Given the description of an element on the screen output the (x, y) to click on. 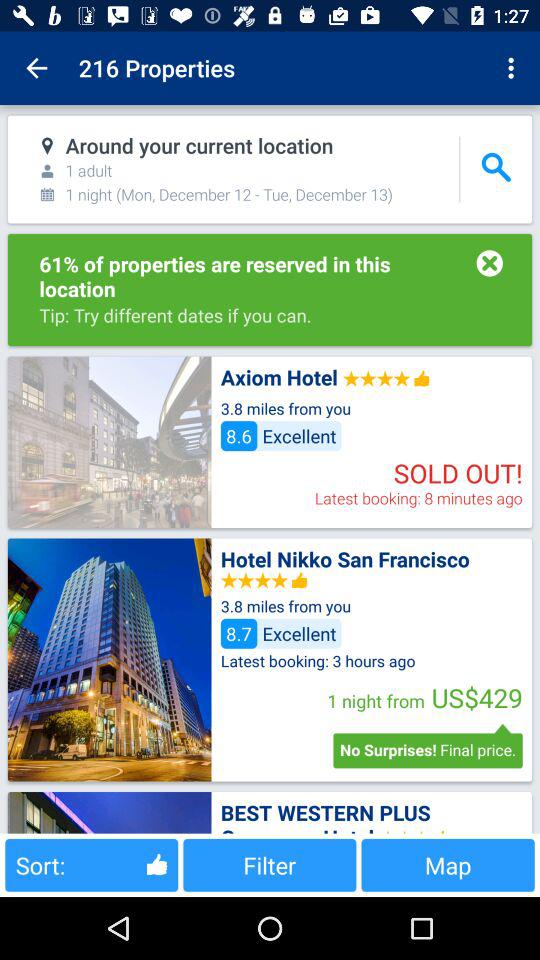
show details (109, 812)
